Given the description of an element on the screen output the (x, y) to click on. 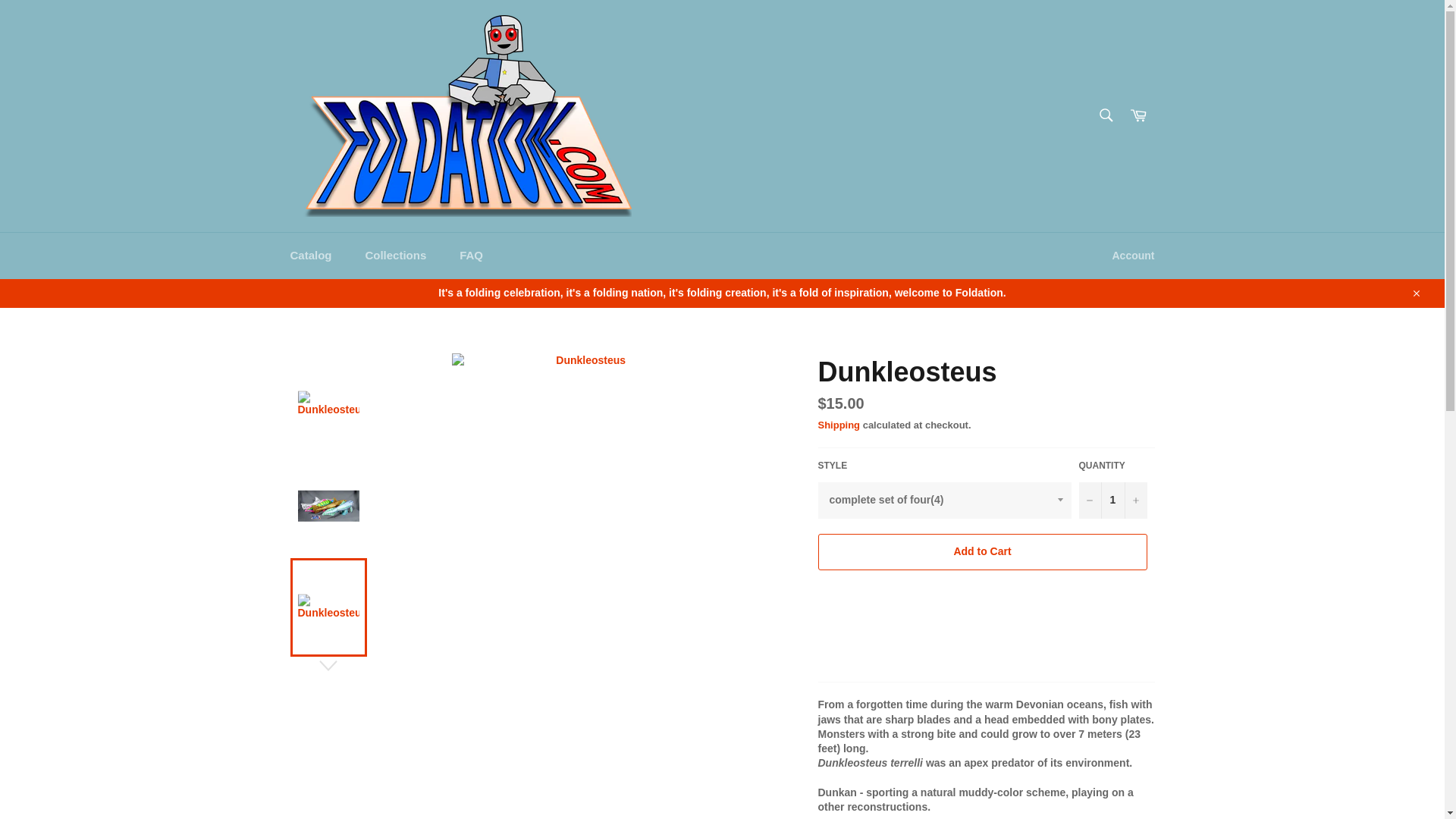
Close (1414, 292)
Cart (1138, 115)
Account (1132, 255)
1 (1112, 500)
FAQ (470, 255)
Collections (395, 255)
Catalog (310, 255)
Search (1104, 114)
